Given the description of an element on the screen output the (x, y) to click on. 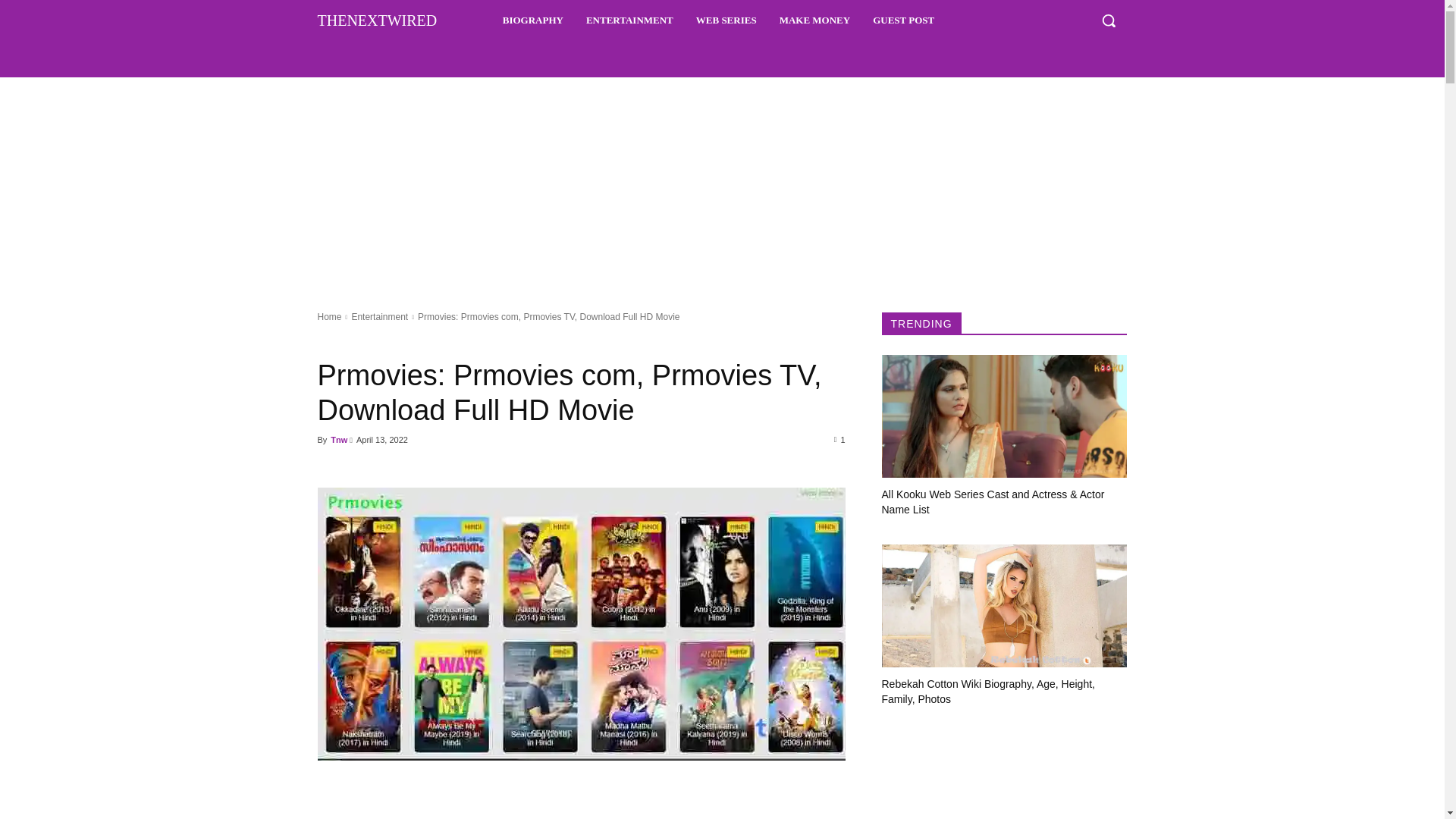
Advertisement (580, 807)
BIOGRAPHY (532, 20)
Home (328, 317)
WEB SERIES (726, 20)
THENEXTWIRED (376, 20)
GUEST POST (903, 20)
ENTERTAINMENT (629, 20)
1 (839, 438)
